Given the description of an element on the screen output the (x, y) to click on. 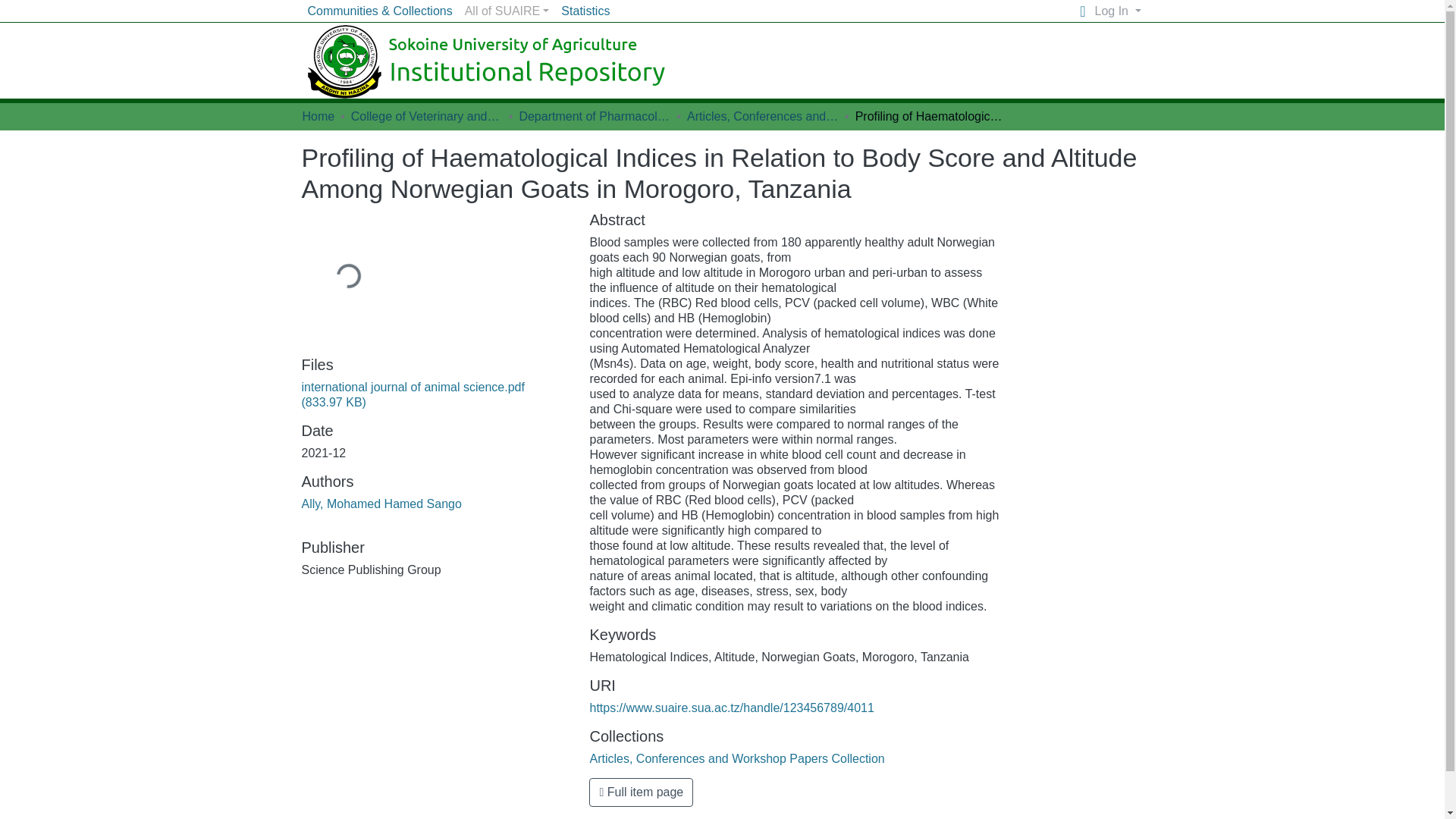
Department of Pharmacology and Toxicology (593, 116)
All of SUAIRE (507, 13)
Statistics (584, 12)
Ally, Mohamed Hamed Sango (381, 503)
College of Veterinary and Medical Sciences (426, 116)
Articles, Conferences and Workshop Papers Collection (762, 116)
Log In (1117, 12)
Full item page (641, 792)
Language switch (1082, 11)
Home (317, 116)
Statistics (584, 12)
Articles, Conferences and Workshop Papers Collection (736, 758)
